Given the description of an element on the screen output the (x, y) to click on. 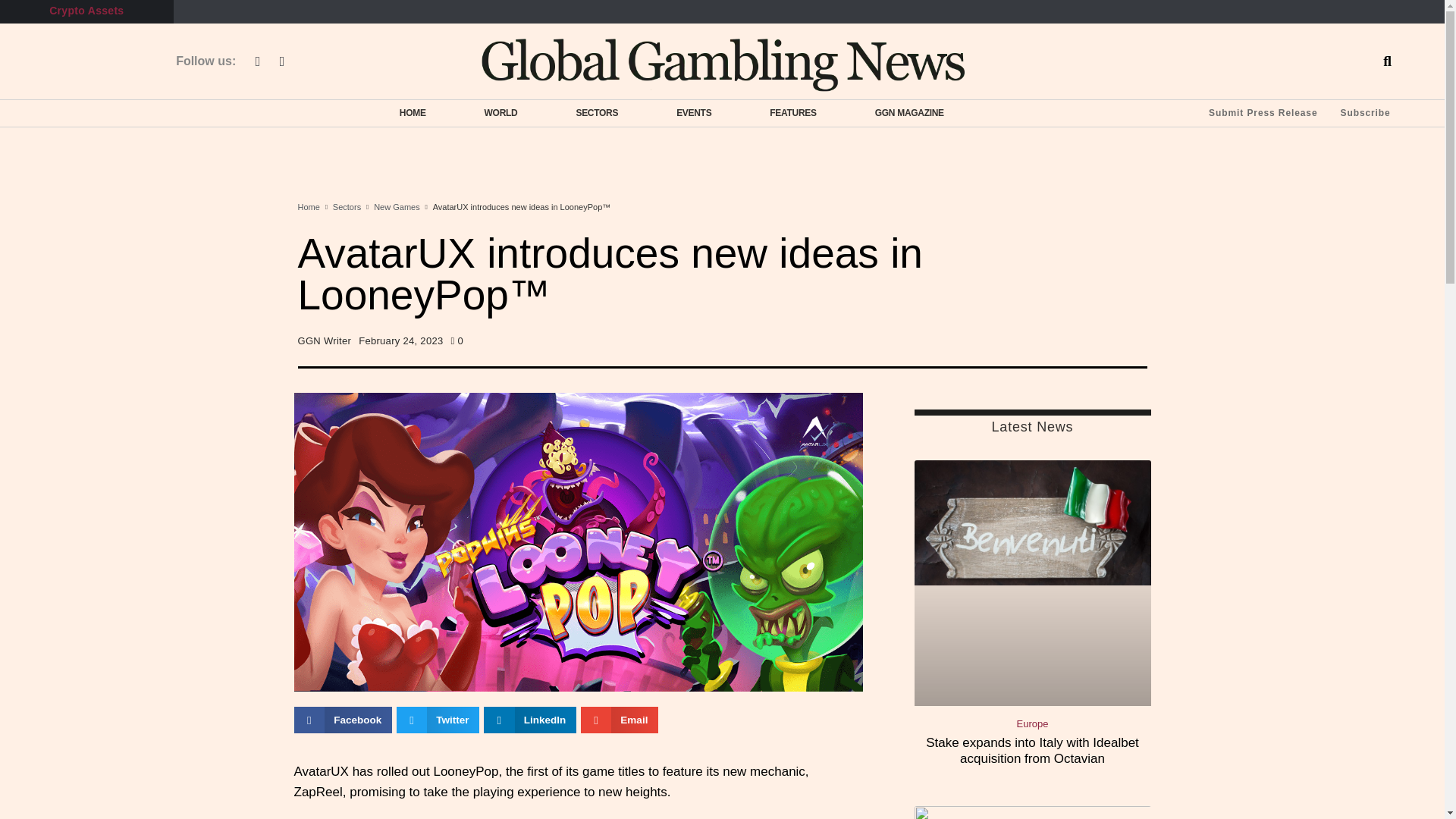
WORLD (500, 112)
GGN MAGAZINE (909, 112)
SECTORS (596, 112)
EVENTS (693, 112)
Sectors (347, 207)
Home (307, 207)
HOME (412, 112)
New Games (397, 207)
FEATURES (792, 112)
